Given the description of an element on the screen output the (x, y) to click on. 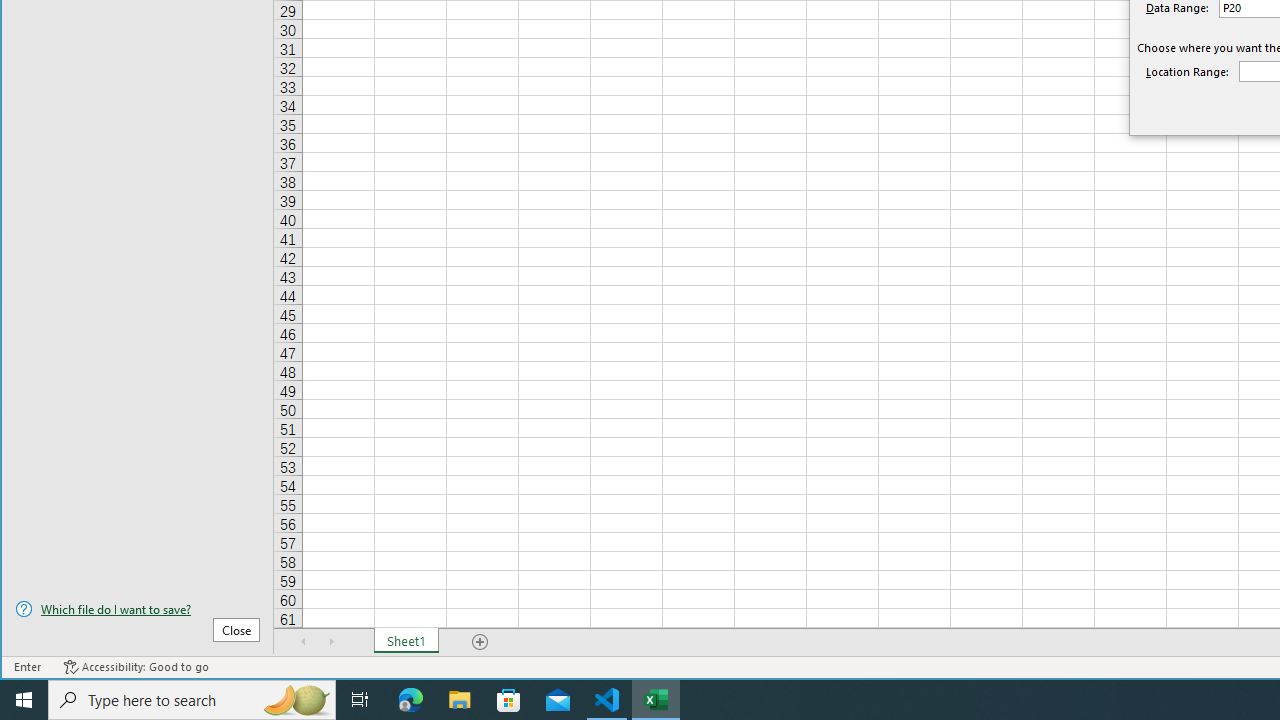
Scroll Left (303, 641)
Add Sheet (481, 641)
Accessibility Checker Accessibility: Good to go (136, 667)
Scroll Right (331, 641)
Which file do I want to save? (137, 609)
Sheet1 (406, 641)
